Given the description of an element on the screen output the (x, y) to click on. 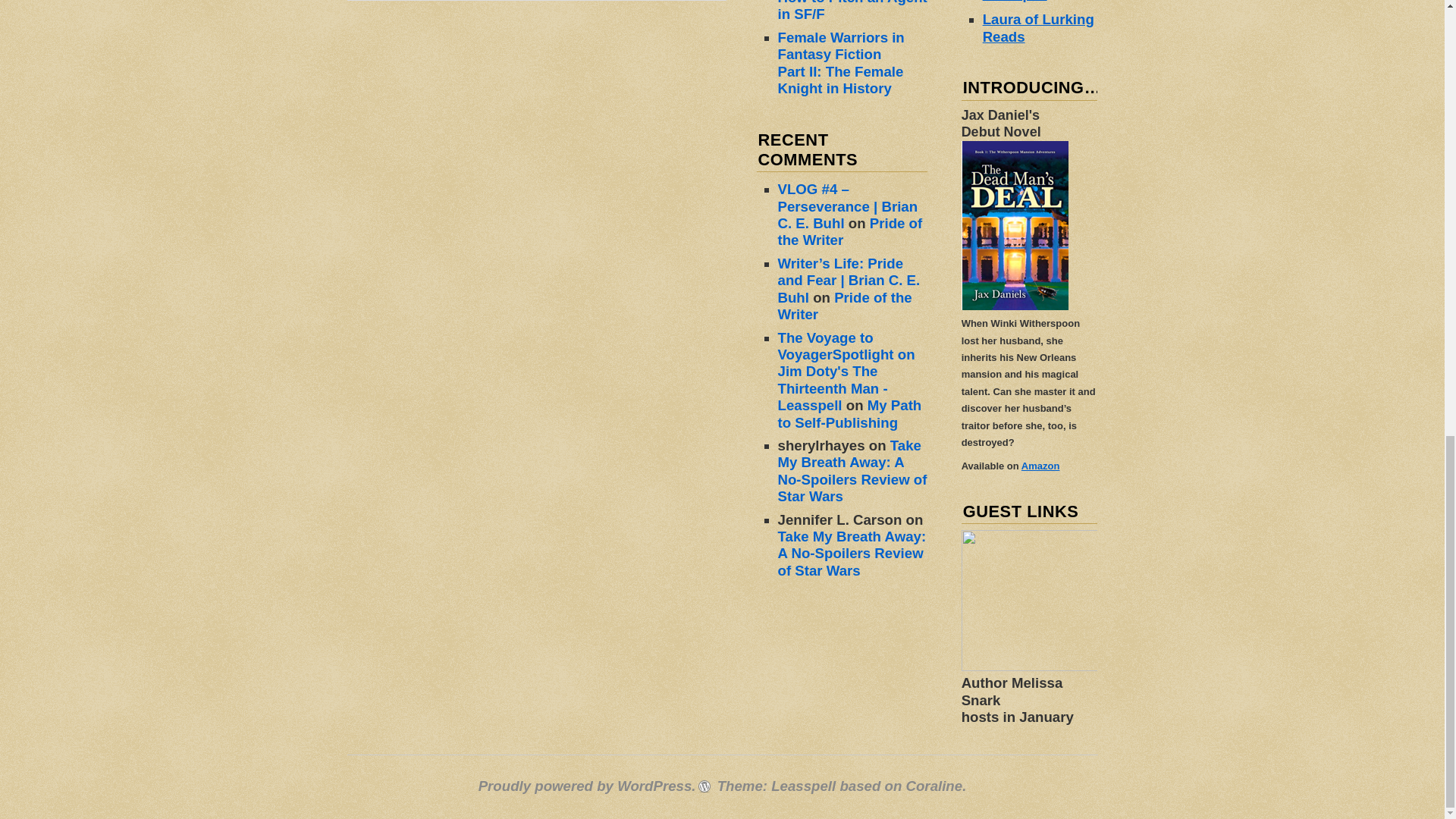
Amazon (1040, 465)
Pride of the Writer (844, 305)
Take My Breath Away: A No-Spoilers Review of Star Wars (851, 553)
My Path to Self-Publishing (849, 413)
Take My Breath Away: A No-Spoilers Review of Star Wars (852, 470)
Laura of Lurking Reads (1038, 27)
A Semantic Personal Publishing Platform (587, 785)
Jennifer at Leasspell (1018, 1)
Pride of the Writer (850, 231)
